Given the description of an element on the screen output the (x, y) to click on. 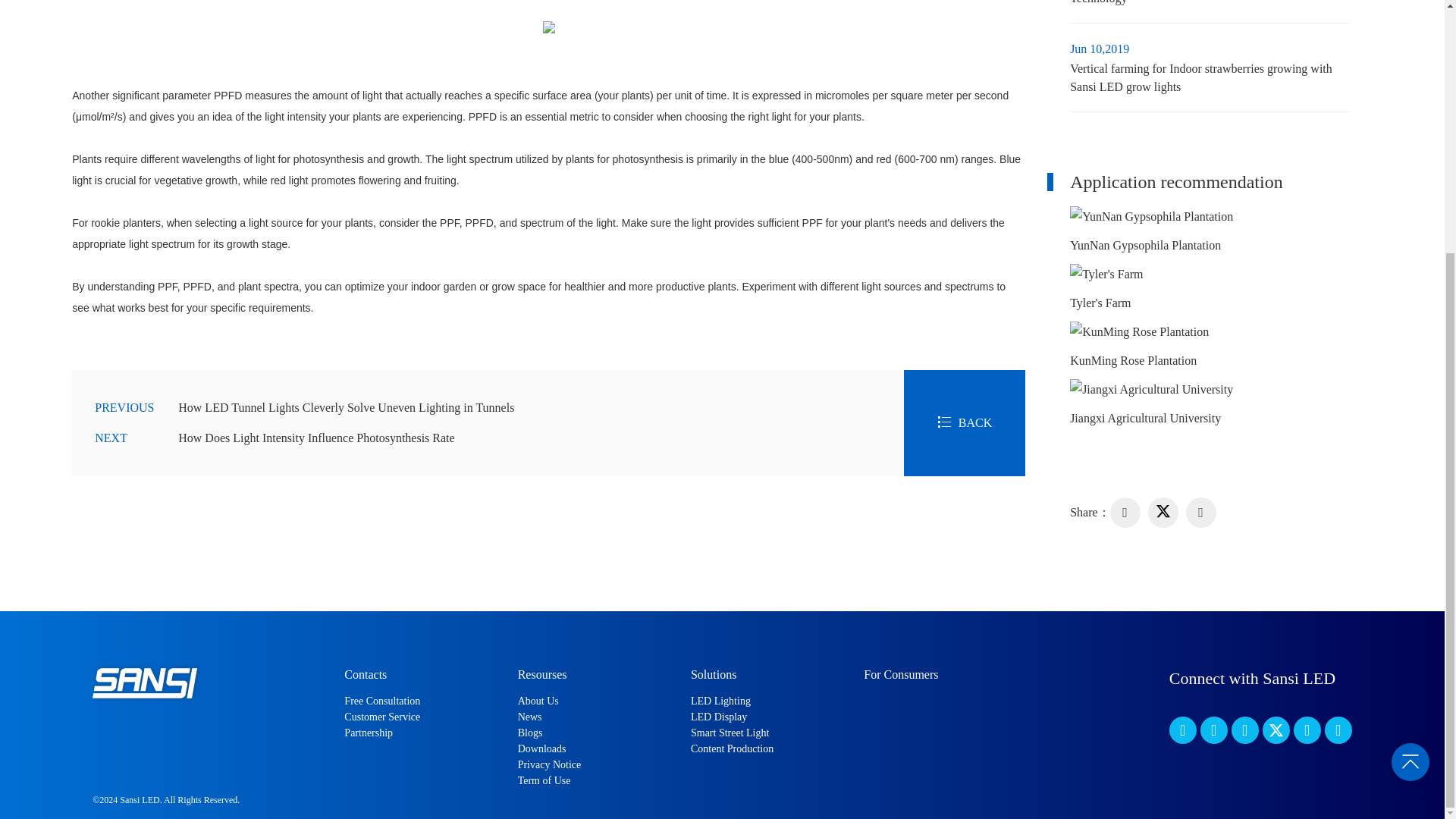
BACK (964, 422)
NEXTHow Does Light Intensity Influence Photosynthesis Rate (487, 437)
